Given the description of an element on the screen output the (x, y) to click on. 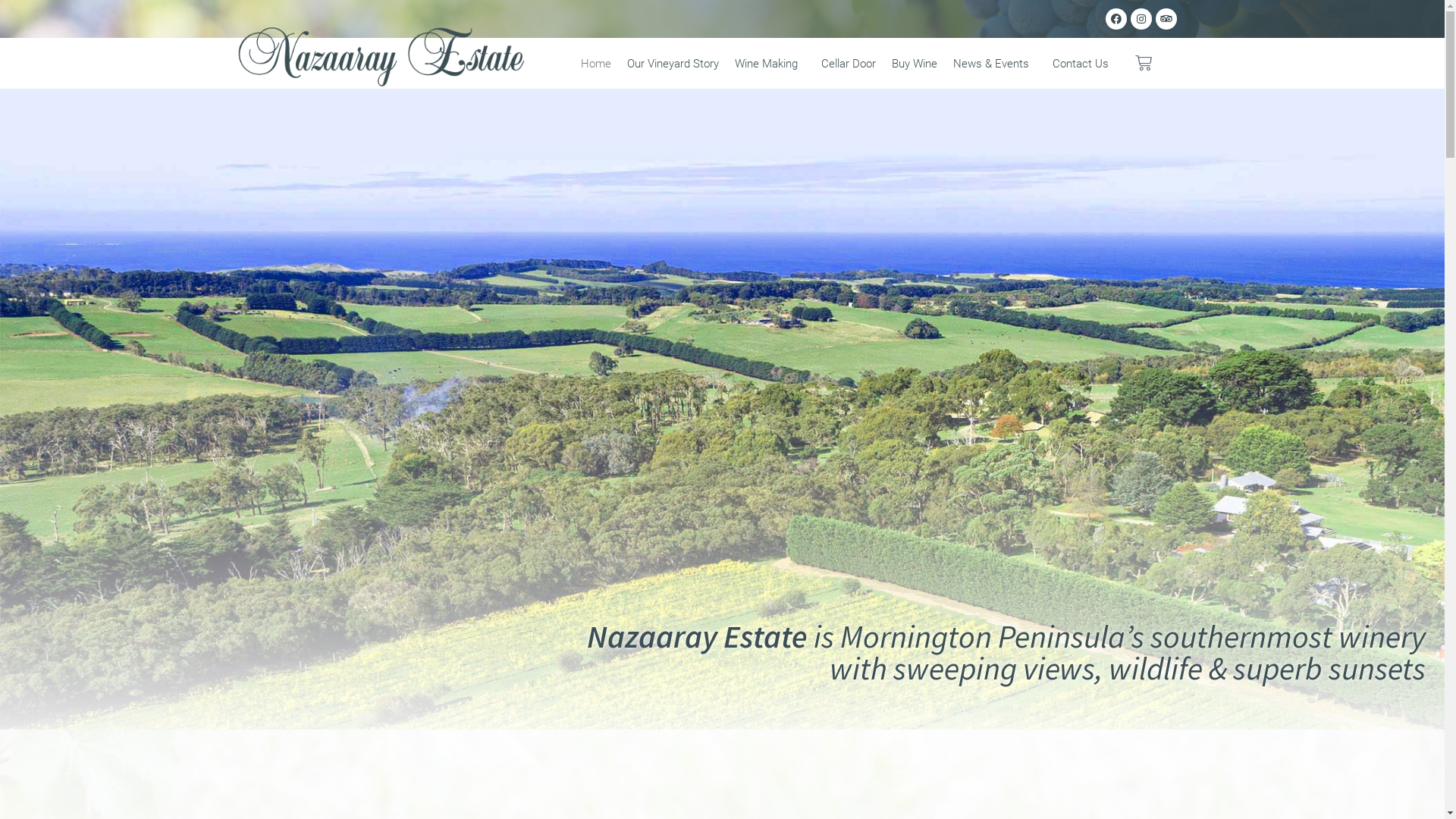
Our Vineyard Story Element type: text (672, 62)
Contact Us Element type: text (1080, 62)
Wine Making Element type: text (769, 62)
News & Events Element type: text (994, 62)
Buy Wine Element type: text (914, 62)
Cellar Door Element type: text (847, 62)
Home Element type: text (596, 62)
